Given the description of an element on the screen output the (x, y) to click on. 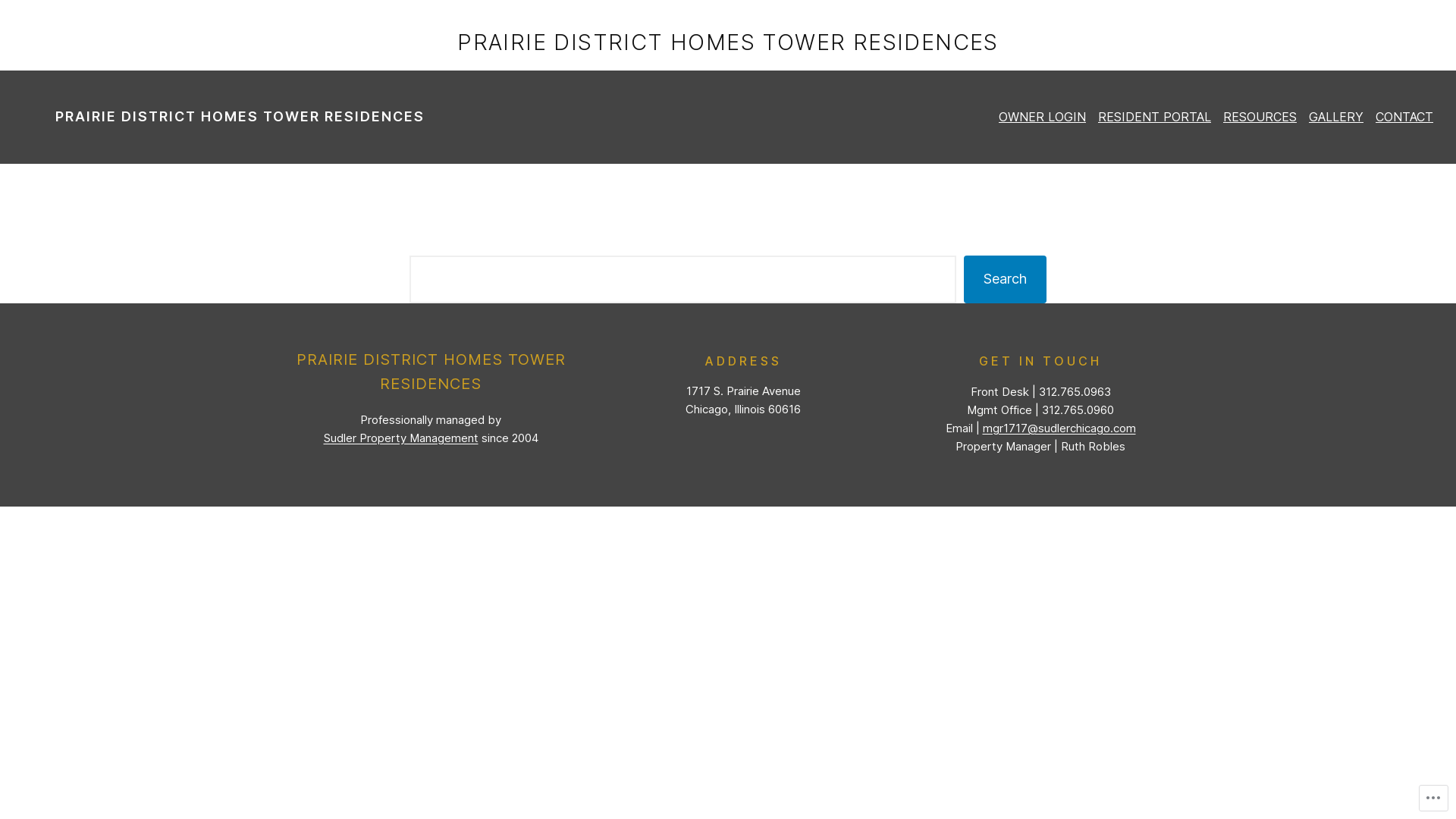
RESOURCES Element type: text (1259, 116)
RESIDENT PORTAL Element type: text (1154, 116)
CONTACT Element type: text (1404, 116)
PRAIRIE DISTRICT HOMES TOWER RESIDENCES Element type: text (727, 41)
Sudler Property Management Element type: text (400, 437)
mgr1717@sudlerchicago.com Element type: text (1058, 427)
OWNER LOGIN Element type: text (1041, 116)
Create a website or blog at WordPress.com Element type: text (727, 527)
GALLERY Element type: text (1335, 116)
Search Element type: text (1004, 279)
PRAIRIE DISTRICT HOMES TOWER RESIDENCES Element type: text (239, 116)
